Given the description of an element on the screen output the (x, y) to click on. 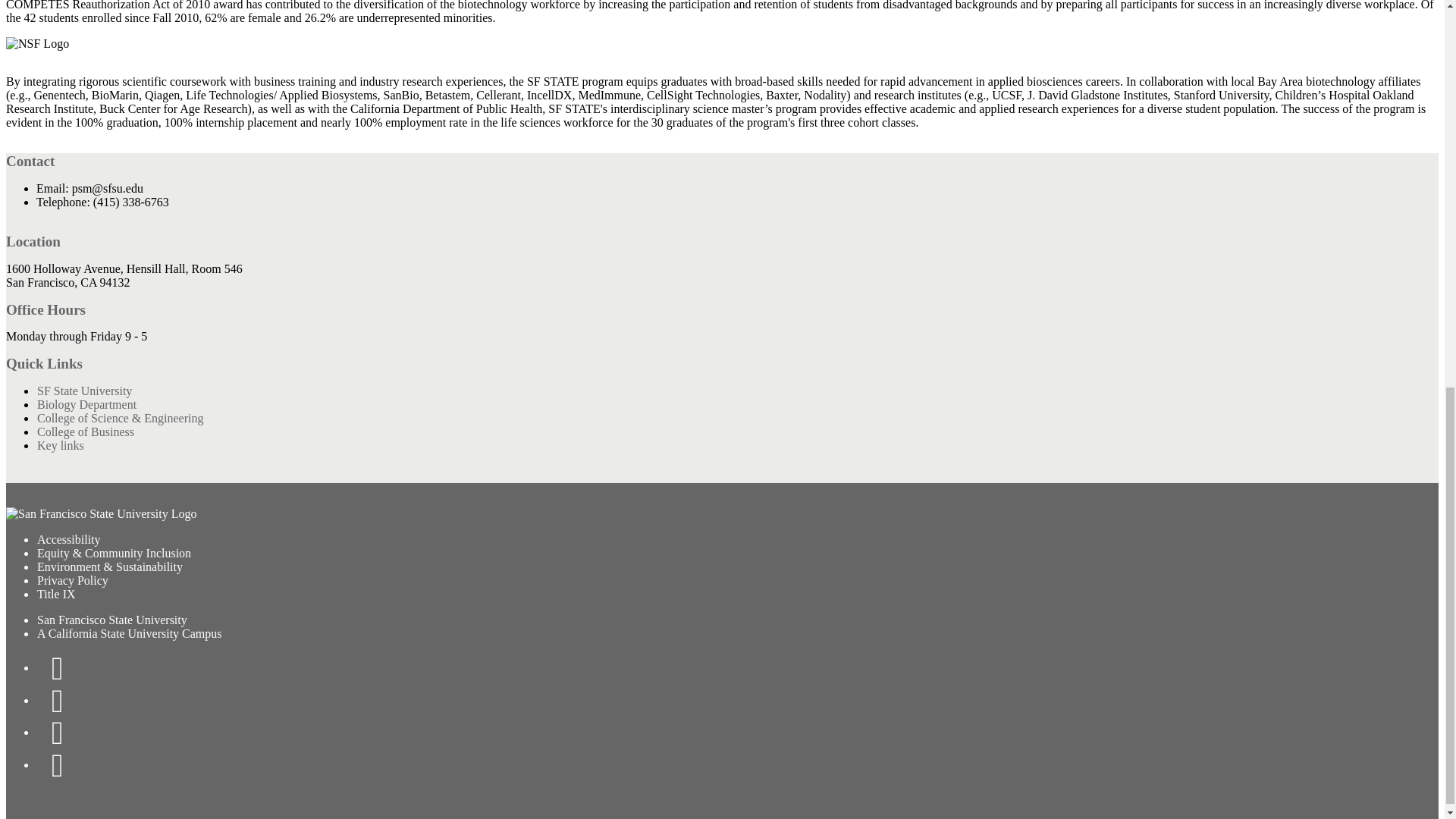
College of Business (85, 431)
SF State Twitter (57, 699)
SF State LinkedIn (57, 763)
SF State Instagram (57, 730)
Biology Department (86, 403)
Accessibility (68, 538)
SF State University (84, 390)
Privacy Policy (72, 579)
Key links (60, 444)
SF State Facebook (57, 667)
